Given the description of an element on the screen output the (x, y) to click on. 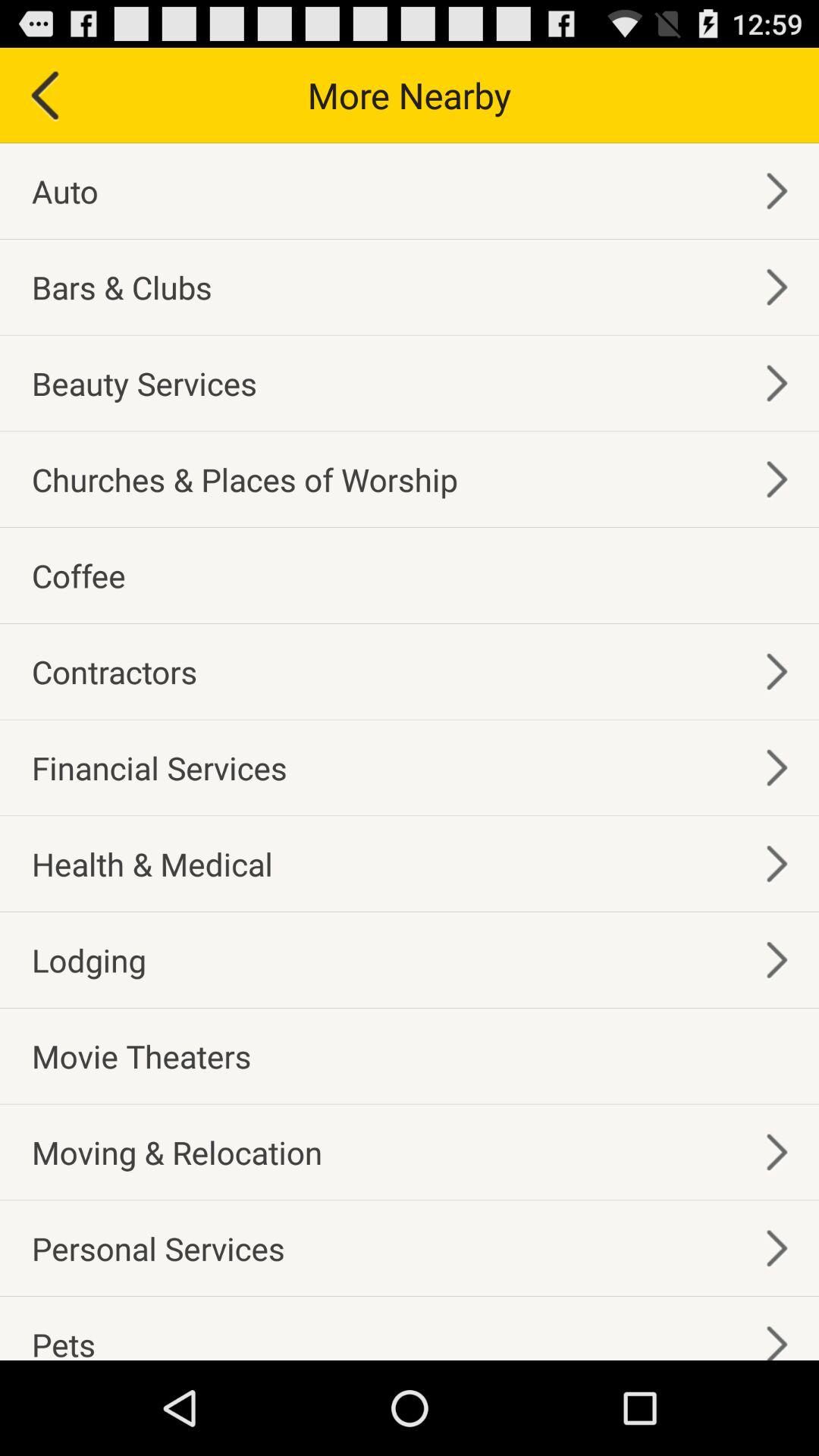
turn off the health & medical icon (152, 863)
